Given the description of an element on the screen output the (x, y) to click on. 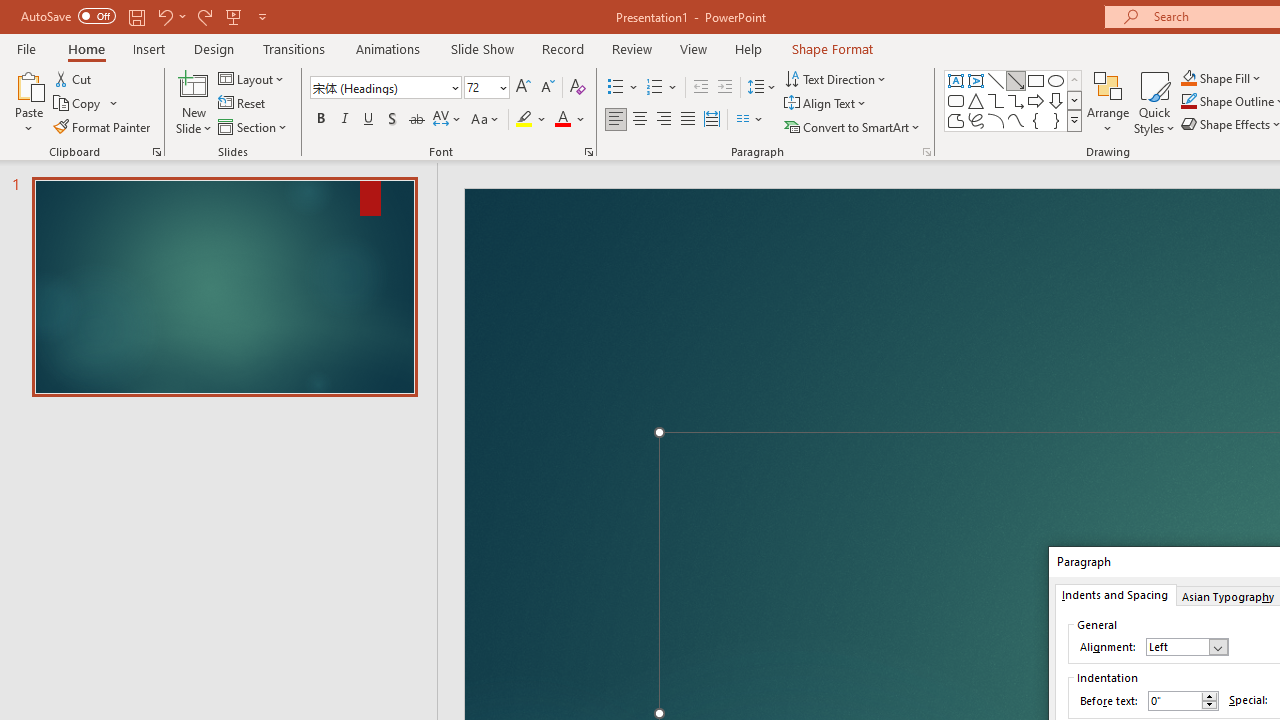
Change Case (486, 119)
Before text (1174, 700)
Freeform: Shape (955, 120)
Text Highlight Color Yellow (524, 119)
Section (254, 126)
More (1209, 696)
Increase Indent (725, 87)
Clear Formatting (577, 87)
Shape Fill (1221, 78)
Decrease Indent (700, 87)
